Given the description of an element on the screen output the (x, y) to click on. 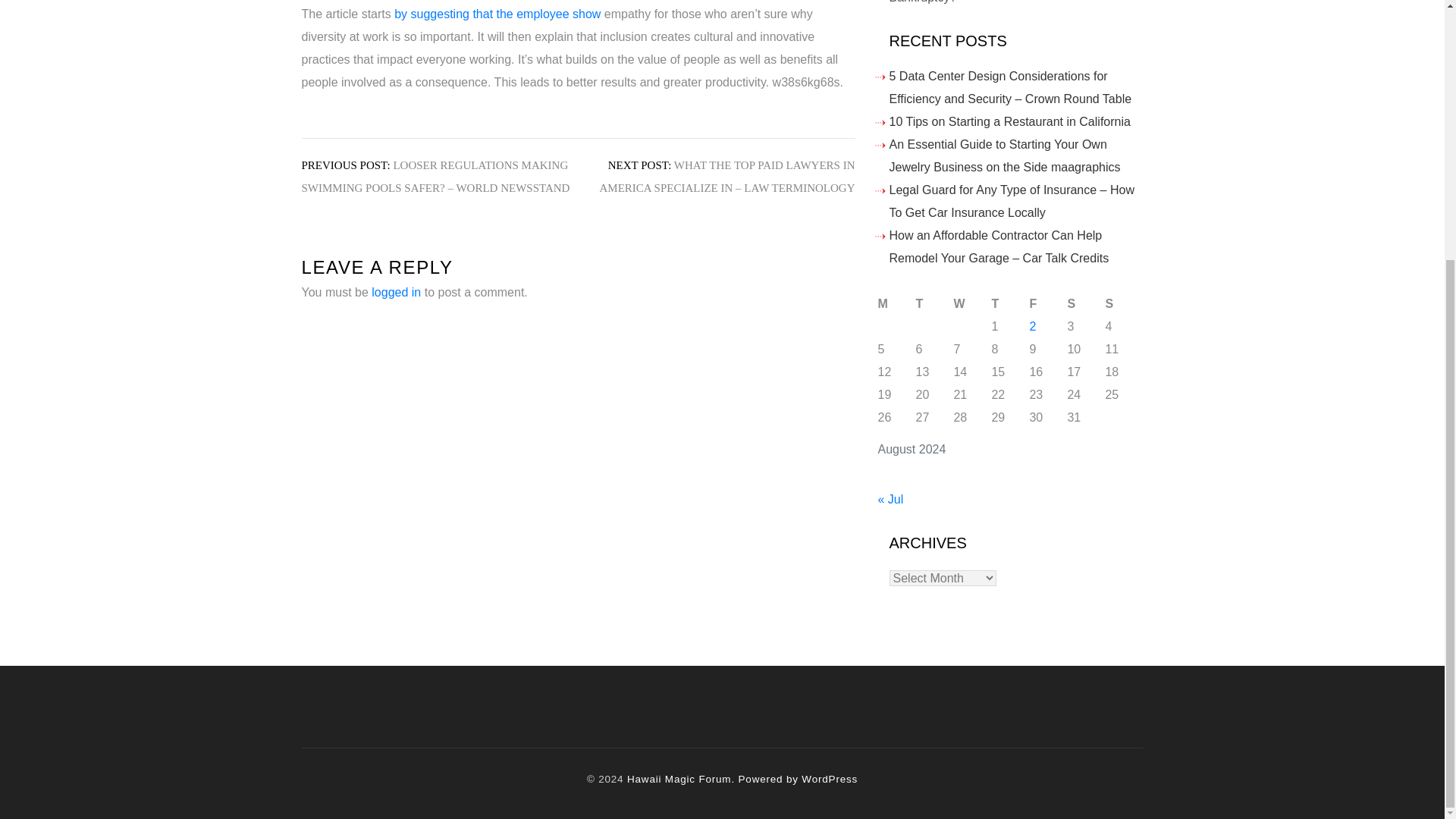
Monday (896, 303)
Sunday (1123, 303)
Friday (1048, 303)
Worried About Filing Bankruptcy? (987, 2)
Hawaii Magic Forum. (681, 778)
Thursday (1010, 303)
Wednesday (972, 303)
Saturday (1086, 303)
Tuesday (934, 303)
Powered by WordPress (798, 778)
10 Tips on Starting a Restaurant in California (1008, 121)
by suggesting that the employee show (496, 13)
logged in (395, 291)
